Given the description of an element on the screen output the (x, y) to click on. 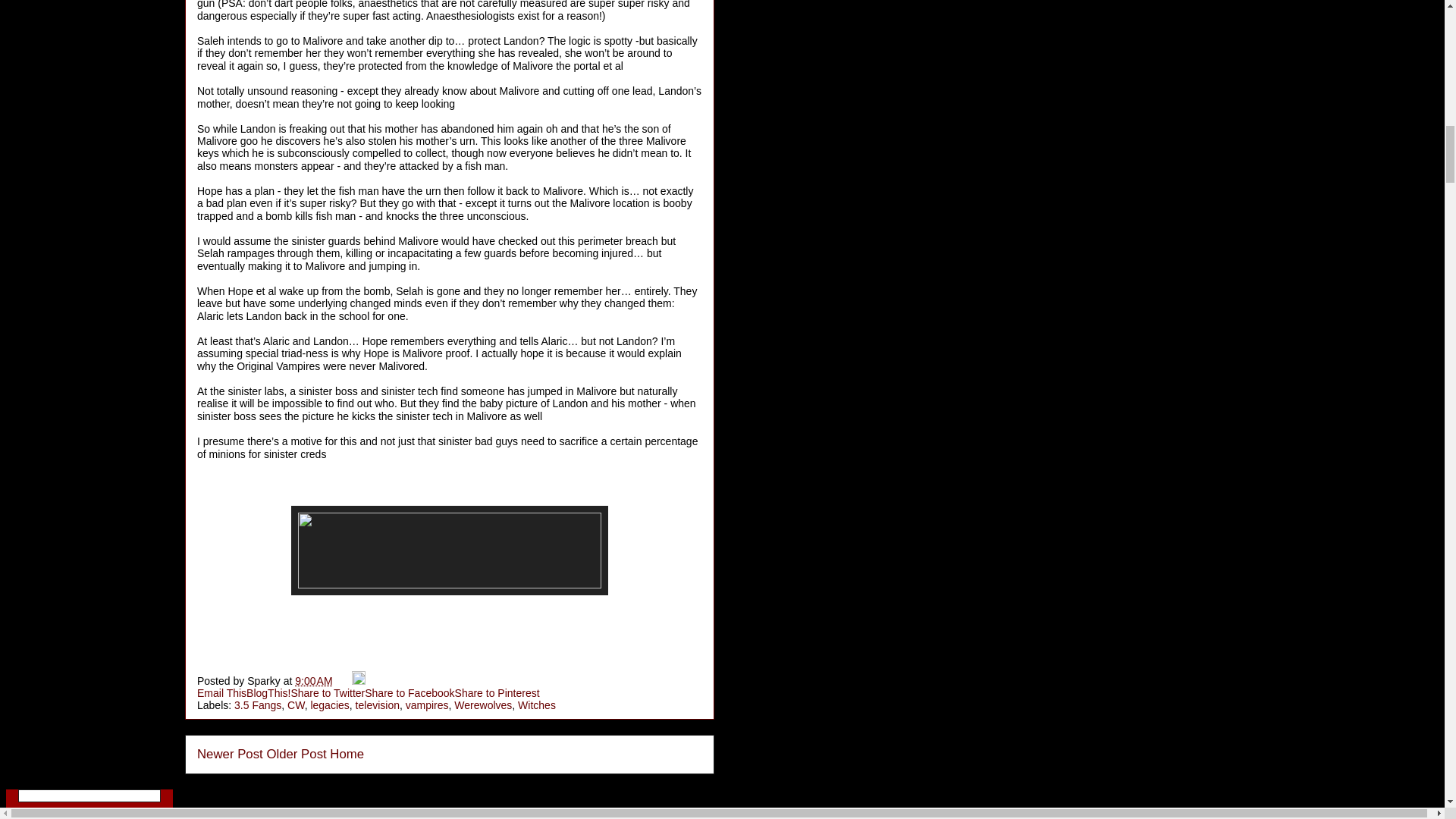
permanent link (313, 680)
Share to Facebook (409, 693)
Email This (221, 693)
Edit Post (358, 680)
vampires (427, 705)
Email This (221, 693)
Share to Twitter (327, 693)
Share to Twitter (327, 693)
CW (295, 705)
Witches (537, 705)
Share to Facebook (409, 693)
BlogThis! (267, 693)
BlogThis! (267, 693)
television (376, 705)
legacies (329, 705)
